Given the description of an element on the screen output the (x, y) to click on. 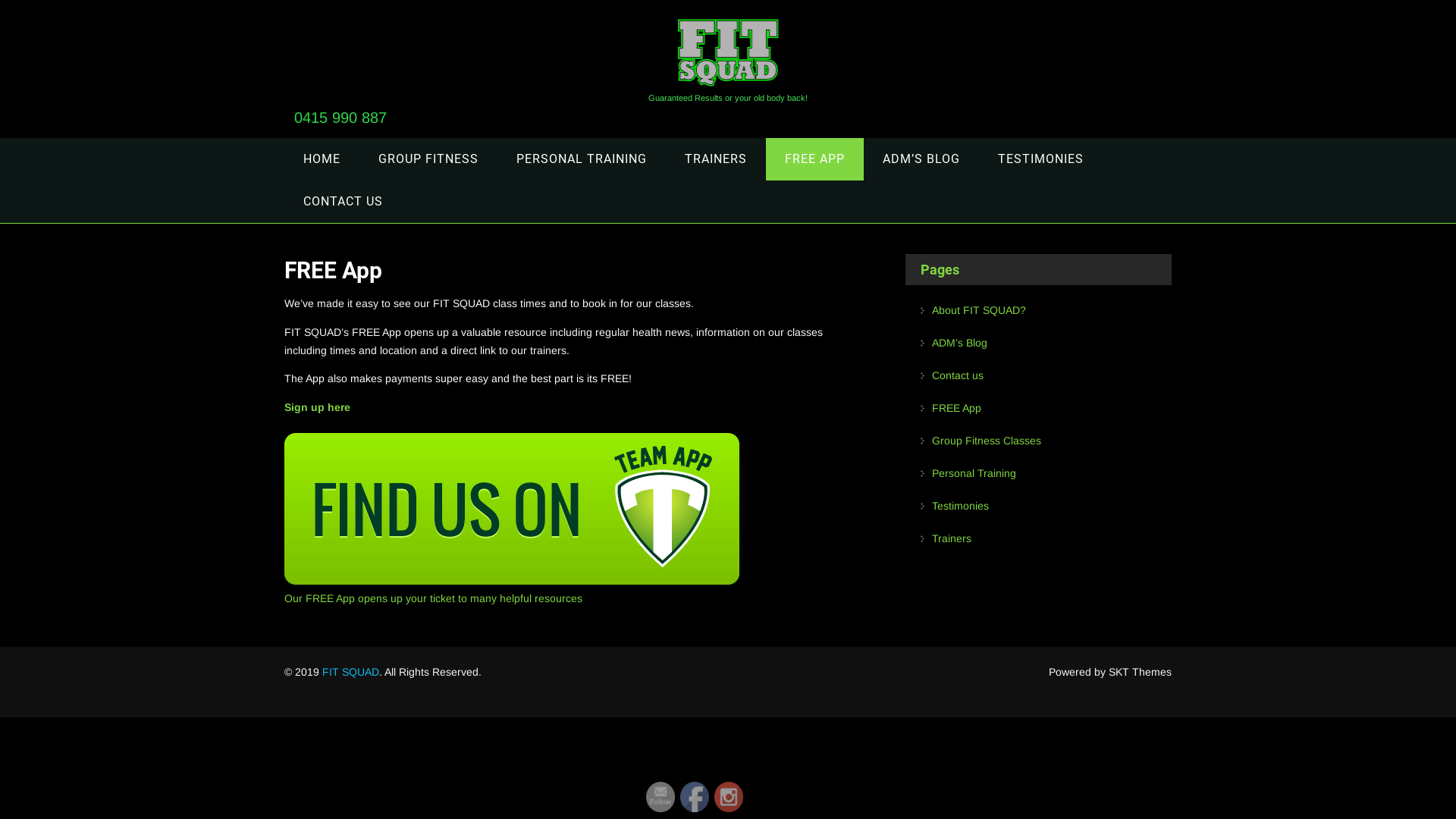
FREE App Element type: text (956, 412)
Facebook Element type: hover (693, 796)
TRAINERS Element type: text (715, 159)
Trainers Element type: text (951, 543)
Sign up here Element type: text (317, 407)
GROUP FITNESS Element type: text (428, 159)
CONTACT US Element type: text (342, 201)
Instagram Element type: hover (728, 796)
FREE APP Element type: text (814, 159)
About FIT SQUAD? Element type: text (978, 315)
Group Fitness Classes Element type: text (986, 445)
Follow by Email Element type: hover (660, 796)
TESTIMONIES Element type: text (1040, 159)
Contact us Element type: text (957, 380)
Testimonies Element type: text (959, 510)
Personal Training Element type: text (973, 478)
PERSONAL TRAINING Element type: text (581, 159)
Fit Squad Yarraville Element type: hover (728, 92)
HOME Element type: text (321, 159)
